Given the description of an element on the screen output the (x, y) to click on. 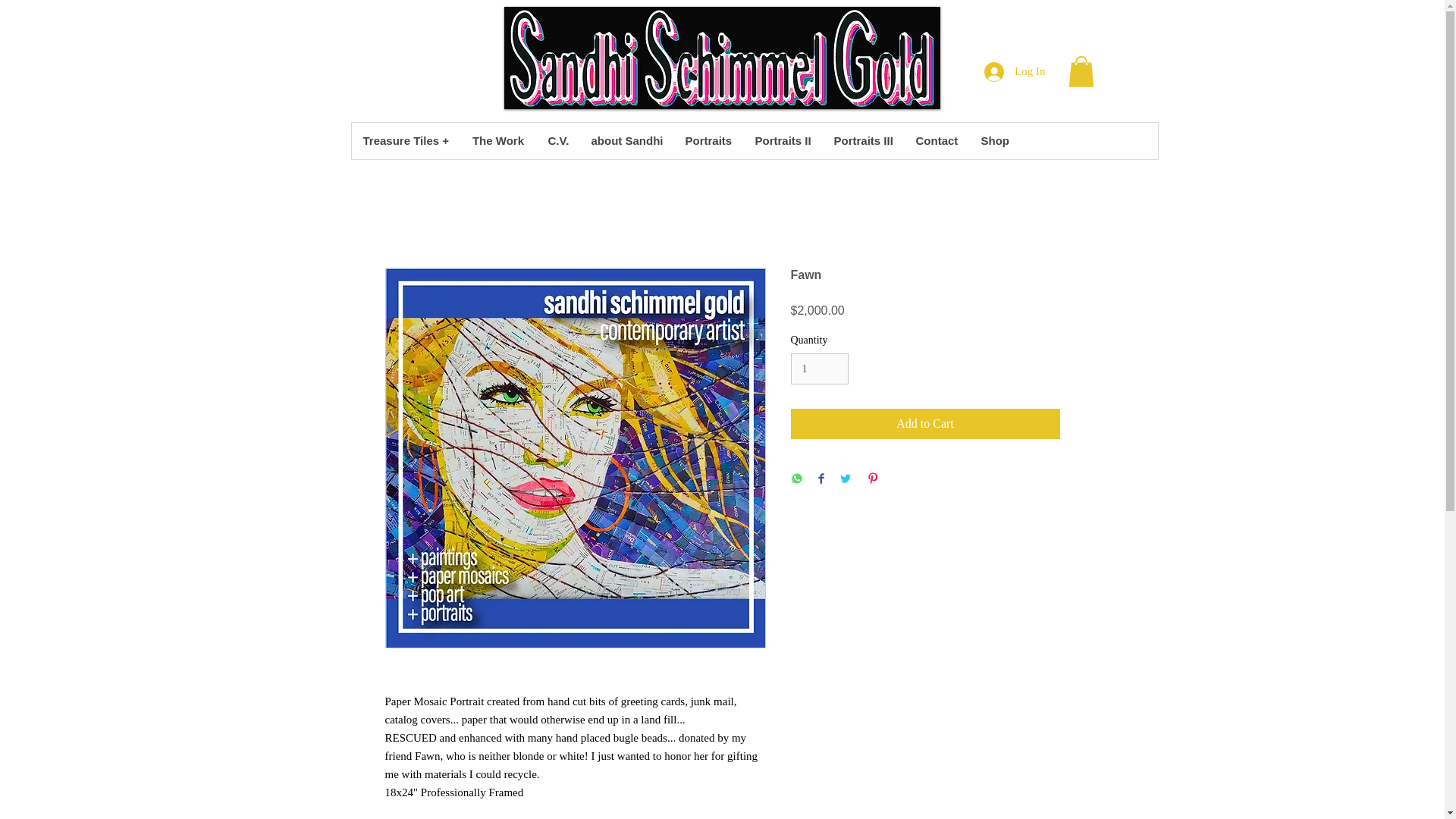
Portraits III (863, 140)
Shop (994, 140)
ssg3.jpg (721, 57)
1 (818, 368)
Portraits (707, 140)
Log In (1014, 71)
about Sandhi (625, 140)
C.V. (556, 140)
Contact (936, 140)
Portraits II (782, 140)
Add to Cart (924, 423)
The Work (497, 140)
